Given the description of an element on the screen output the (x, y) to click on. 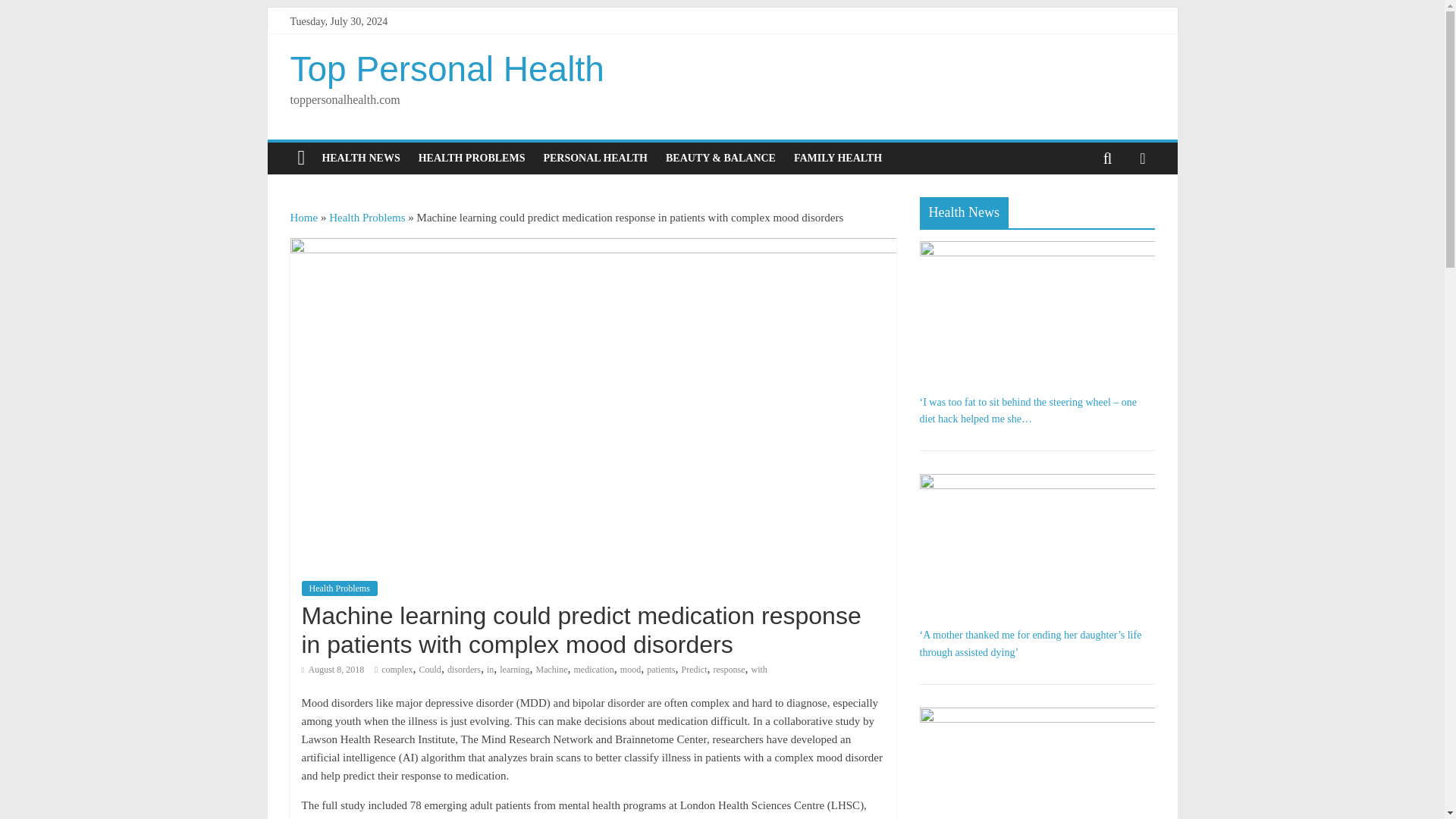
August 8, 2018 (333, 669)
HEALTH PROBLEMS (471, 158)
patients (660, 669)
Top Personal Health (446, 68)
FAMILY HEALTH (837, 158)
Top Personal Health (446, 68)
Could (430, 669)
Home (303, 217)
response (729, 669)
learning (514, 669)
Health Problems (339, 588)
mood (630, 669)
complex (396, 669)
Predict (694, 669)
3:10 pm (333, 669)
